Given the description of an element on the screen output the (x, y) to click on. 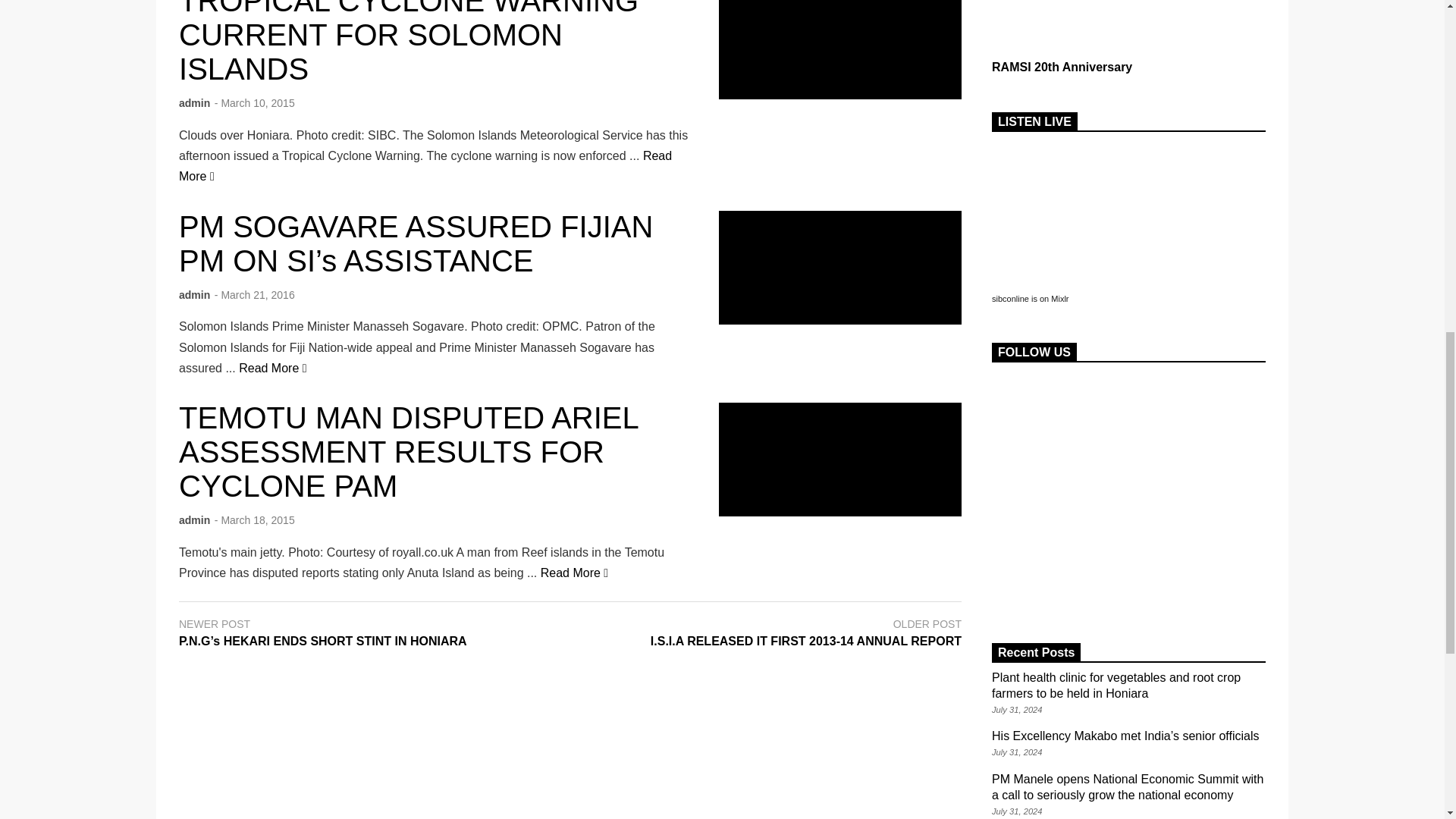
TROPICAL CYCLONE WARNING CURRENT FOR SOLOMON ISLANDS (839, 49)
TROPICAL CYCLONE WARNING CURRENT FOR SOLOMON ISLANDS (409, 42)
TEMOTU MAN DISPUTED ARIEL ASSESSMENT RESULTS FOR CYCLONE PAM (839, 459)
TROPICAL CYCLONE WARNING CURRENT FOR SOLOMON ISLANDS (425, 165)
